Given the description of an element on the screen output the (x, y) to click on. 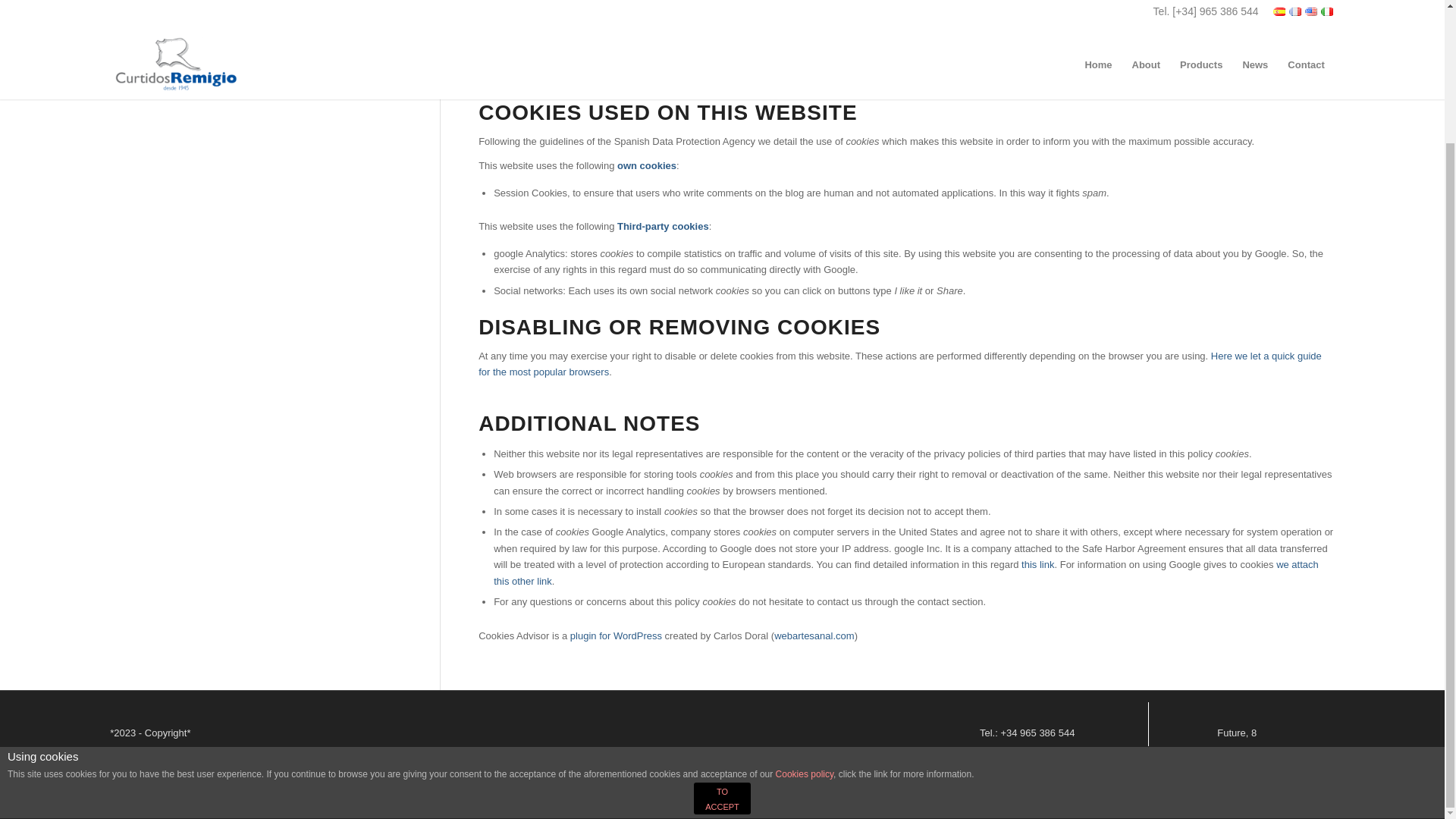
please be directed to this link. (737, 61)
webartesanal.com (814, 635)
plugin for WordPress (616, 635)
Here we let a quick guide for the most popular browsers (900, 363)
we attach this other link (906, 572)
this link (1038, 564)
TO ACCEPT (722, 635)
Cookies policy (804, 611)
